Given the description of an element on the screen output the (x, y) to click on. 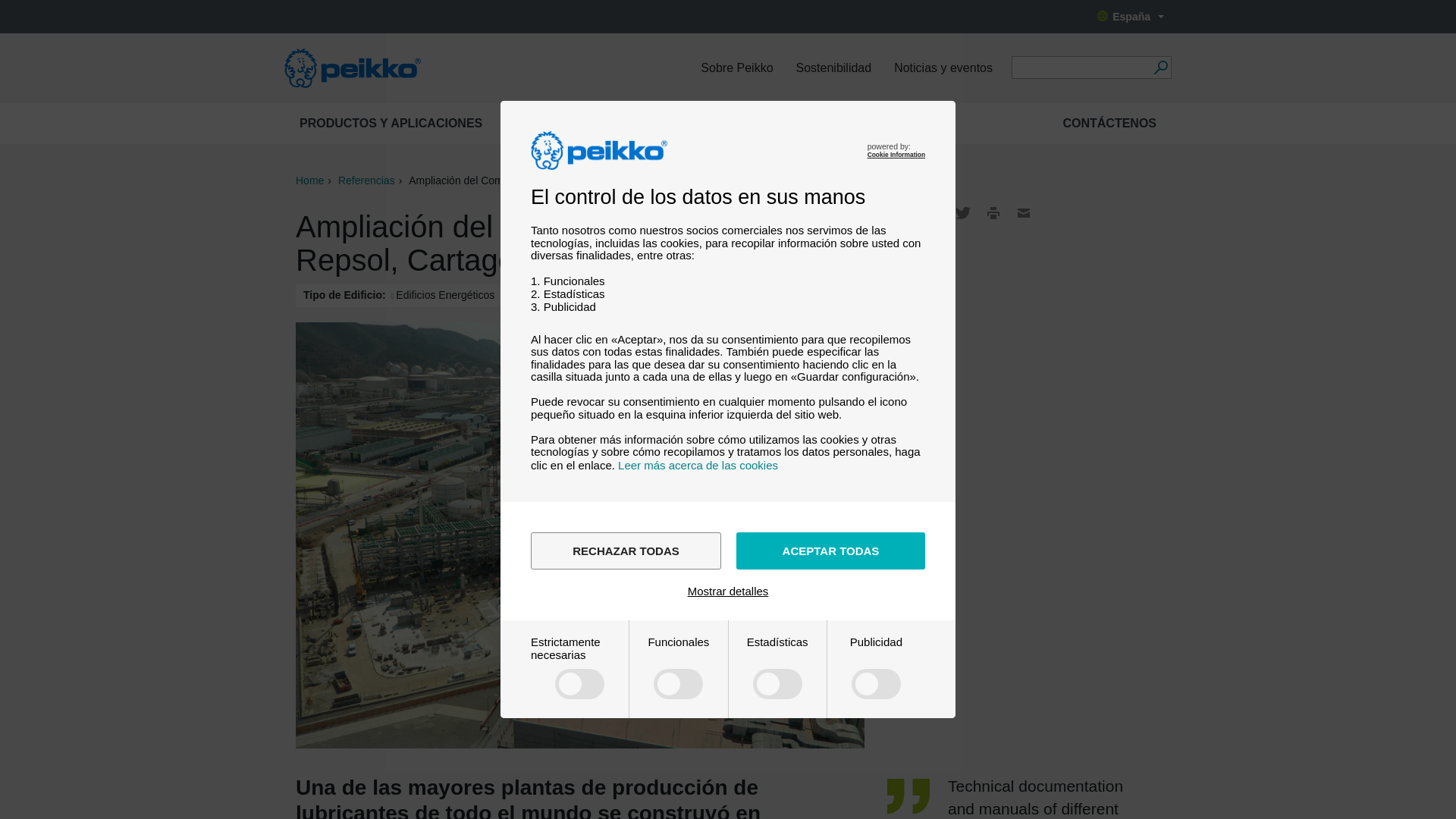
RECHAZAR TODAS (625, 550)
ACEPTAR TODAS (830, 550)
Mostrar detalles (727, 590)
Cookie Information (895, 154)
Email link (1023, 212)
